Given the description of an element on the screen output the (x, y) to click on. 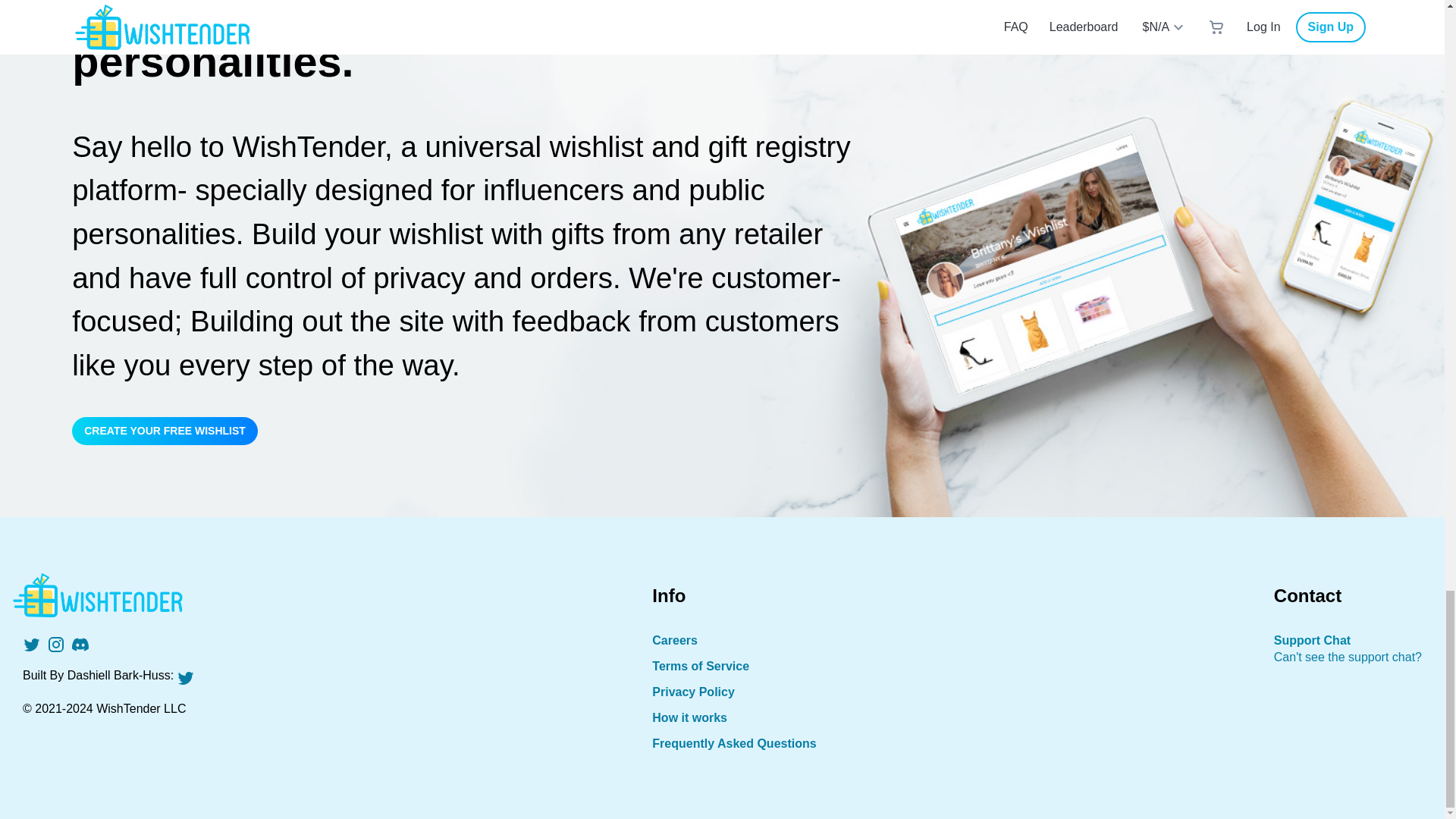
Privacy Policy (733, 692)
Frequently Asked Questions (733, 744)
Terms of Service (733, 666)
CREATE YOUR FREE WISHLIST (722, 430)
Careers (733, 640)
Can't see the support chat? (1348, 657)
How it works (733, 717)
CREATE YOUR FREE WISHLIST (164, 430)
Support Chat (1312, 640)
